Given the description of an element on the screen output the (x, y) to click on. 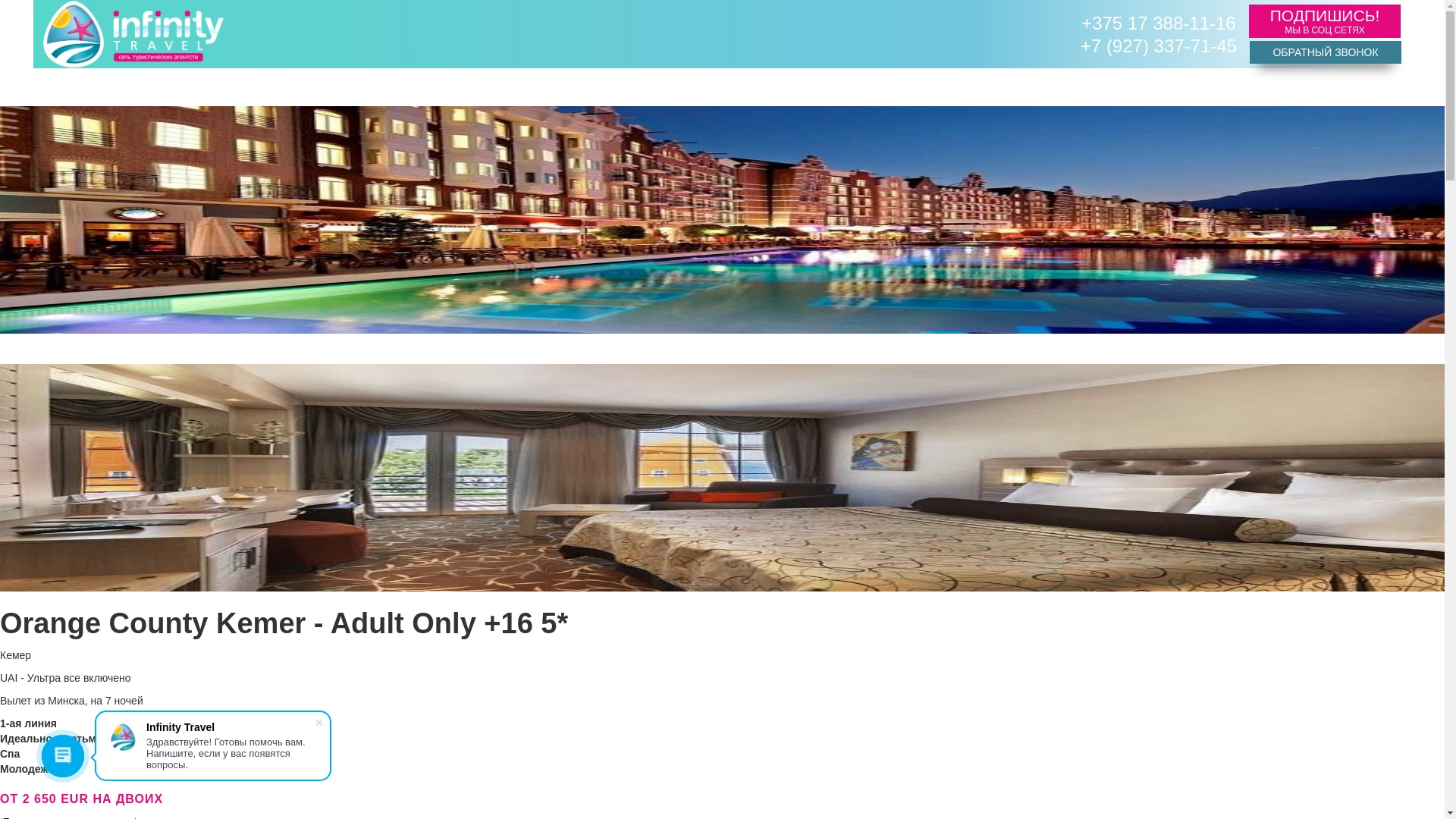
+375 17 388-11-16 Element type: text (1158, 22)
+7 (927) 337-71-45 Element type: text (1158, 45)
